Given the description of an element on the screen output the (x, y) to click on. 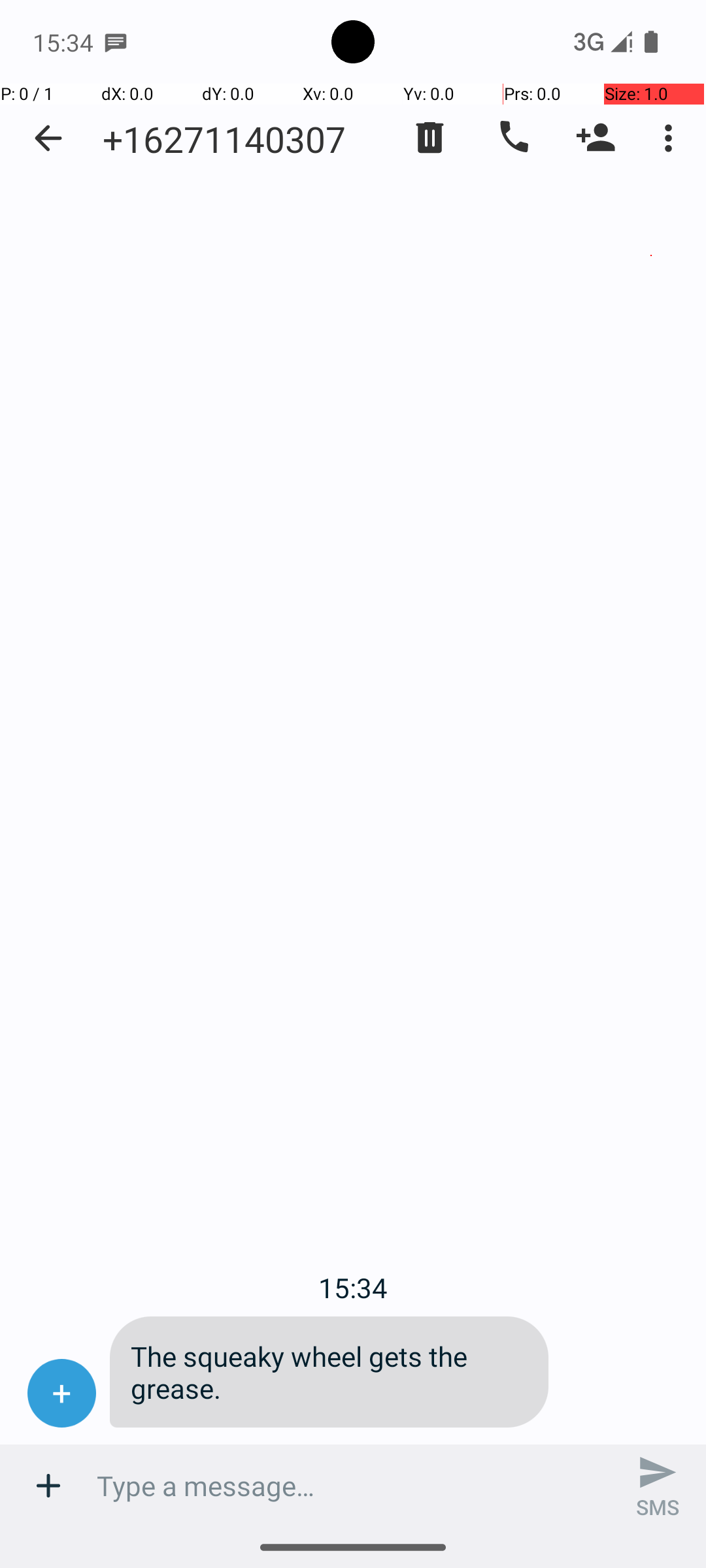
+16271140307 Element type: android.widget.TextView (223, 138)
Dial number Element type: android.widget.Button (512, 137)
Add Person Element type: android.widget.Button (595, 137)
Attachment Element type: android.widget.ImageView (48, 1485)
Type a message… Element type: android.widget.EditText (352, 1485)
SMS Element type: android.widget.Button (657, 1485)
The squeaky wheel gets the grease. Element type: android.widget.TextView (328, 1371)
